Given the description of an element on the screen output the (x, y) to click on. 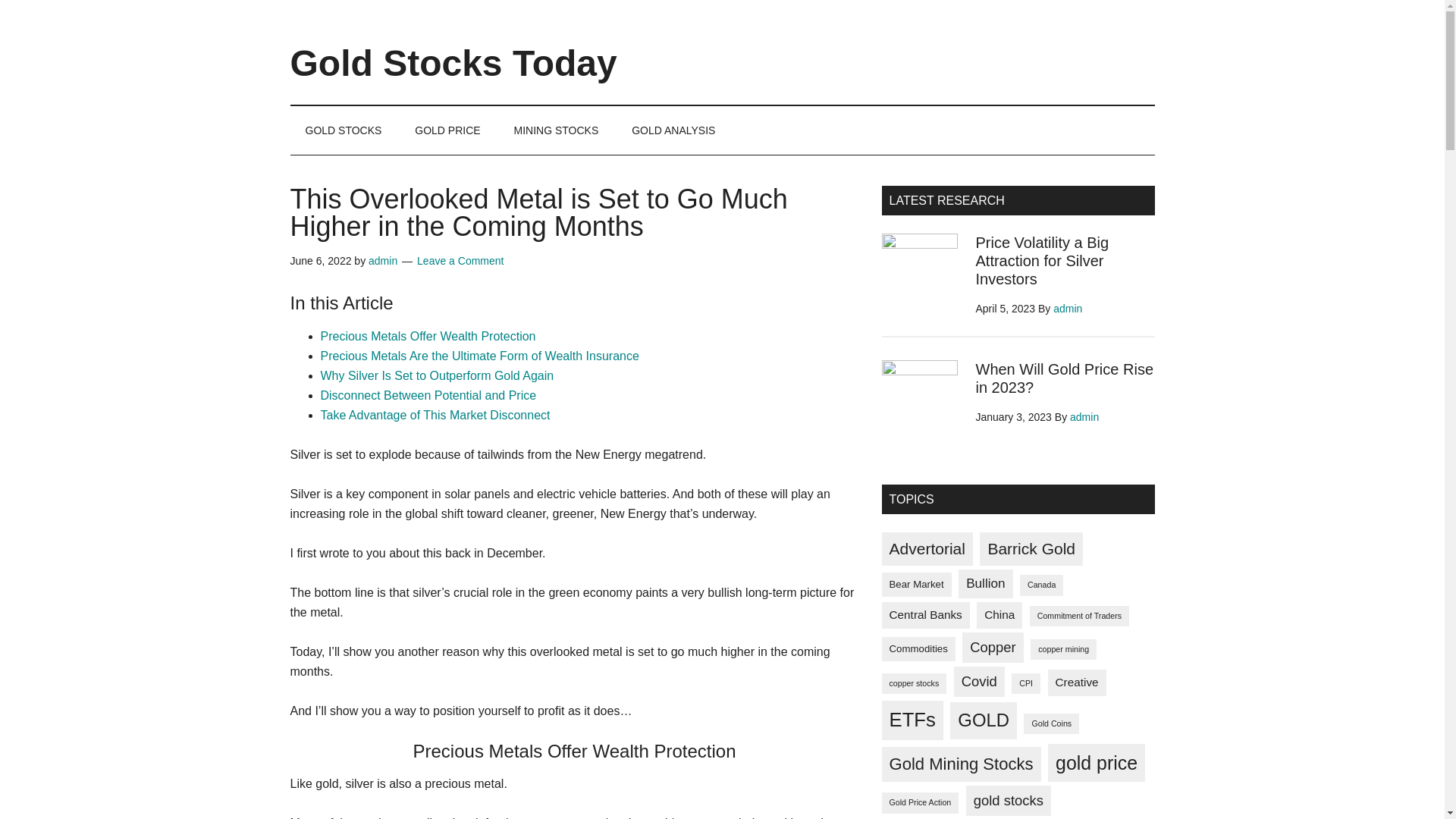
GOLD PRICE (446, 130)
MINING STOCKS (556, 130)
Gold Stocks Today (452, 63)
Why Silver Is Set to Outperform Gold Again (436, 375)
GOLD STOCKS (342, 130)
Precious Metals Are the Ultimate Form of Wealth Insurance (479, 355)
GOLD ANALYSIS (672, 130)
Disconnect Between Potential and Price (427, 395)
admin (382, 260)
Leave a Comment (459, 260)
Take Advantage of This Market Disconnect (435, 414)
Precious Metals Offer Wealth Protection (427, 336)
